Given the description of an element on the screen output the (x, y) to click on. 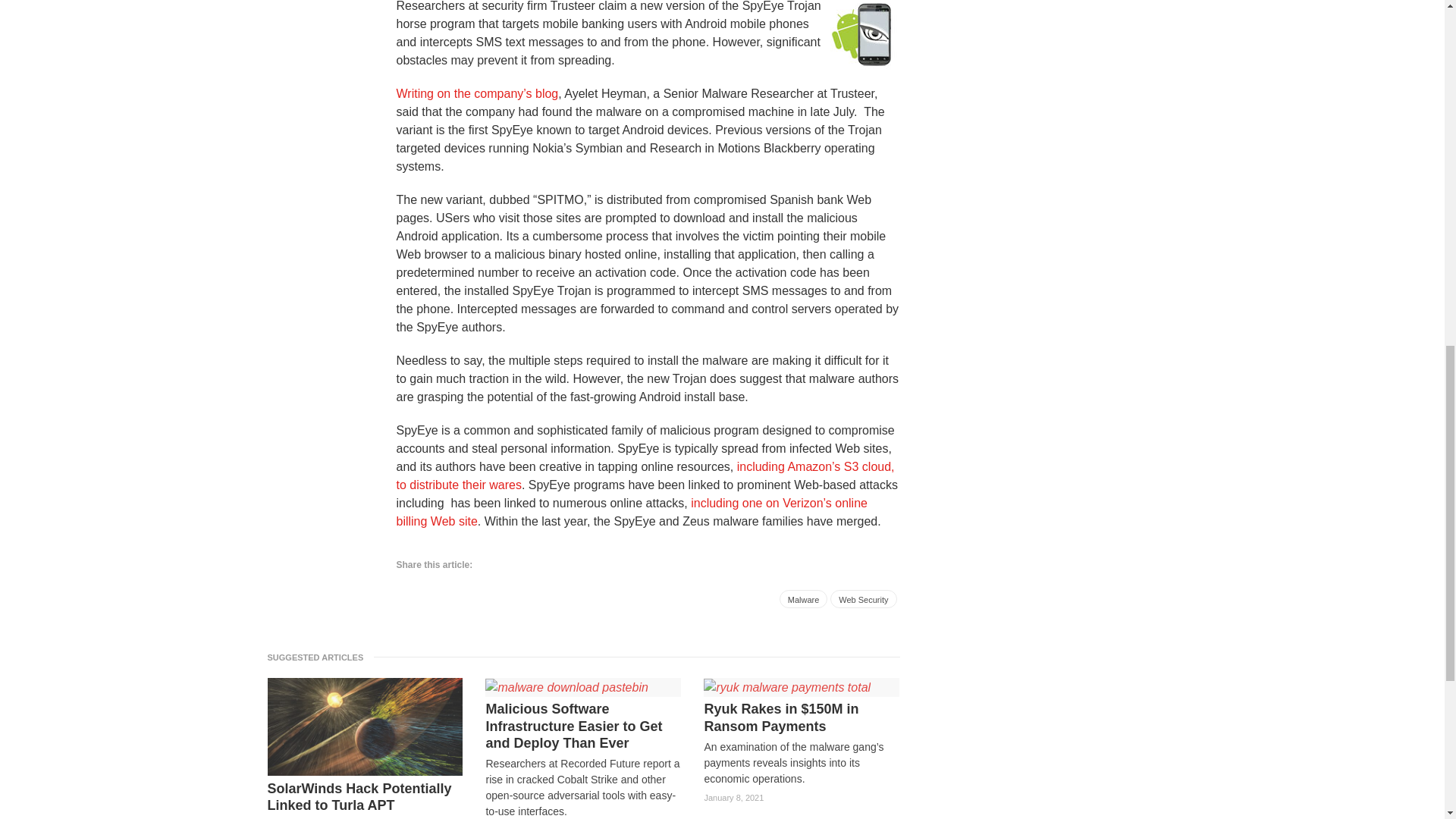
Web Security (862, 598)
Android Spyeye (861, 36)
Malware (803, 598)
SolarWinds Hack Potentially Linked to Turla APT (364, 797)
SUGGESTED ARTICLES (319, 657)
